Given the description of an element on the screen output the (x, y) to click on. 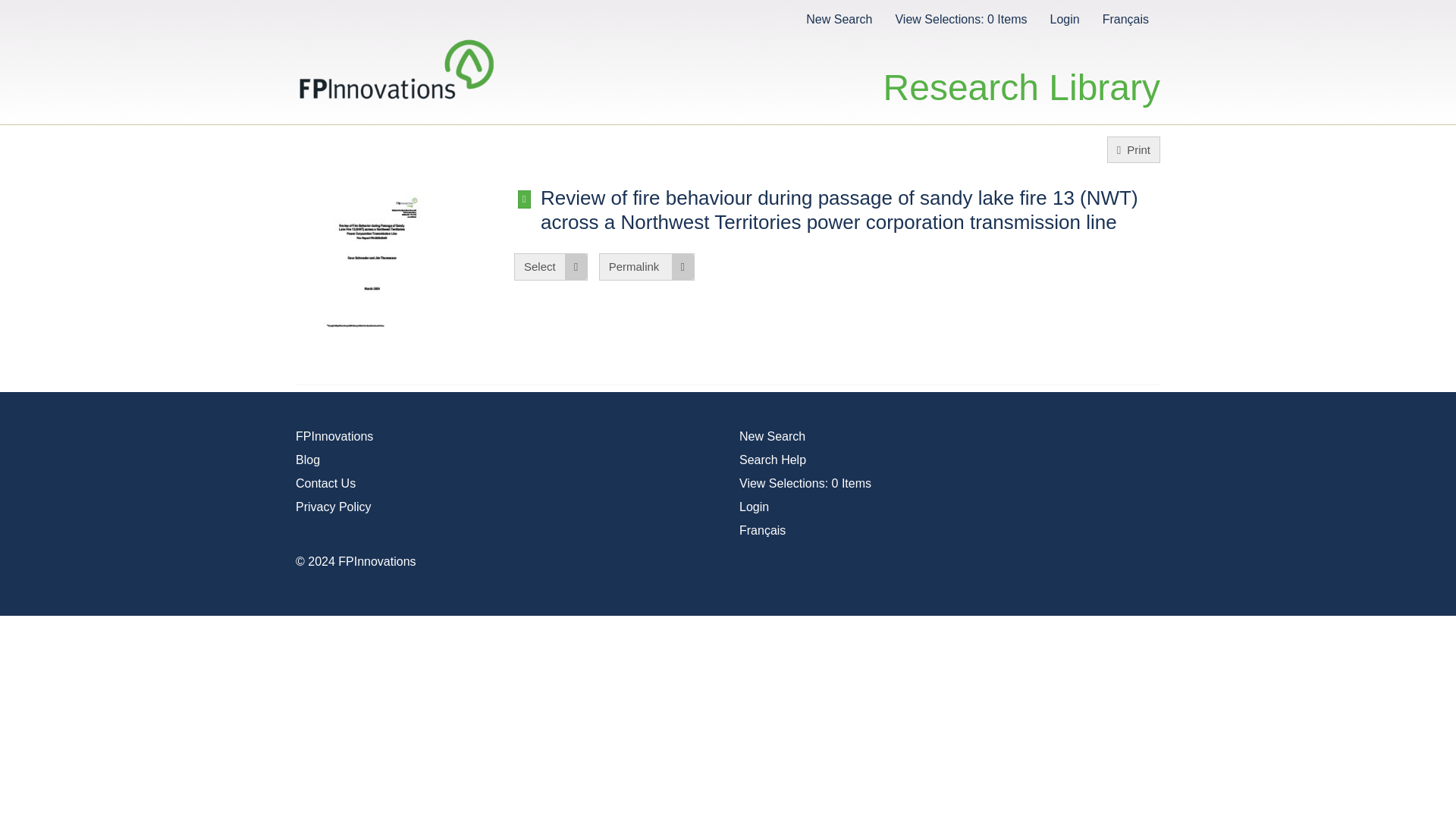
Blog (307, 459)
Permalink (646, 266)
Login (1064, 18)
Search Help (772, 459)
New Search (772, 436)
Toggle Full Record (524, 199)
Permalink (646, 266)
Select (550, 266)
New Search (838, 18)
FPInnovations (333, 436)
Research Library (1021, 71)
Privacy Policy (333, 506)
Contact Us (325, 482)
Select (550, 266)
Toggle Full Record (524, 199)
